Given the description of an element on the screen output the (x, y) to click on. 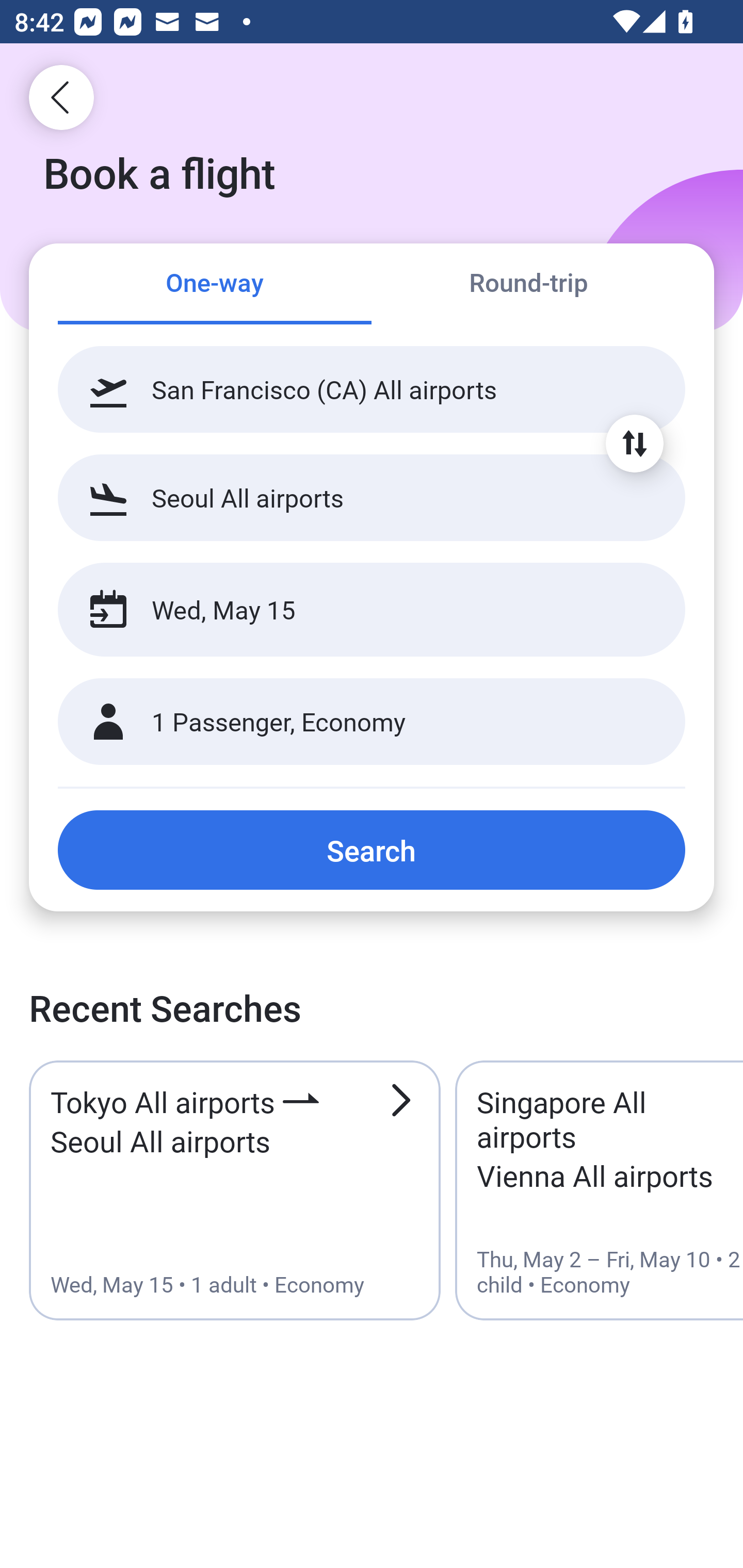
Round-trip (528, 284)
San Francisco (CA) All airports (371, 389)
Seoul All airports (371, 497)
Wed, May 15 (349, 609)
1 Passenger, Economy (371, 721)
Search (371, 849)
